Given the description of an element on the screen output the (x, y) to click on. 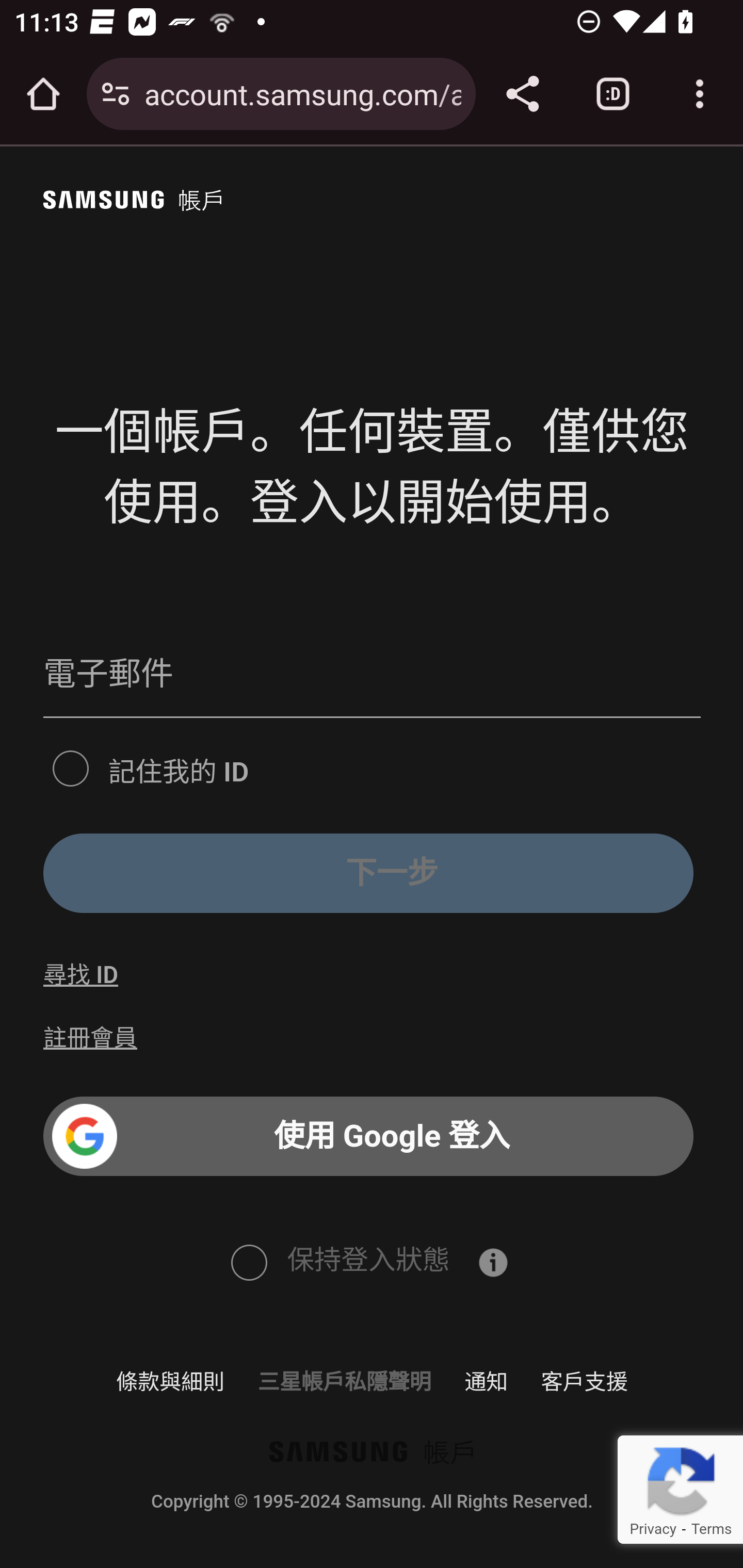
Open the home page (43, 93)
Connection is secure (115, 93)
Share (522, 93)
Switch or close tabs (612, 93)
Customize and control Google Chrome (699, 93)
記住我的 ID (70, 766)
下一步 (368, 873)
尋找 ID (80, 974)
註冊會員 (90, 1037)
使用 Google 登入 (368, 1136)
information (492, 1262)
保持登入狀態 (247, 1260)
三星帳戶私隱聲明 (343, 1381)
通知 (486, 1381)
客戶支援 (583, 1381)
Privacy (652, 1528)
Terms (711, 1528)
